Given the description of an element on the screen output the (x, y) to click on. 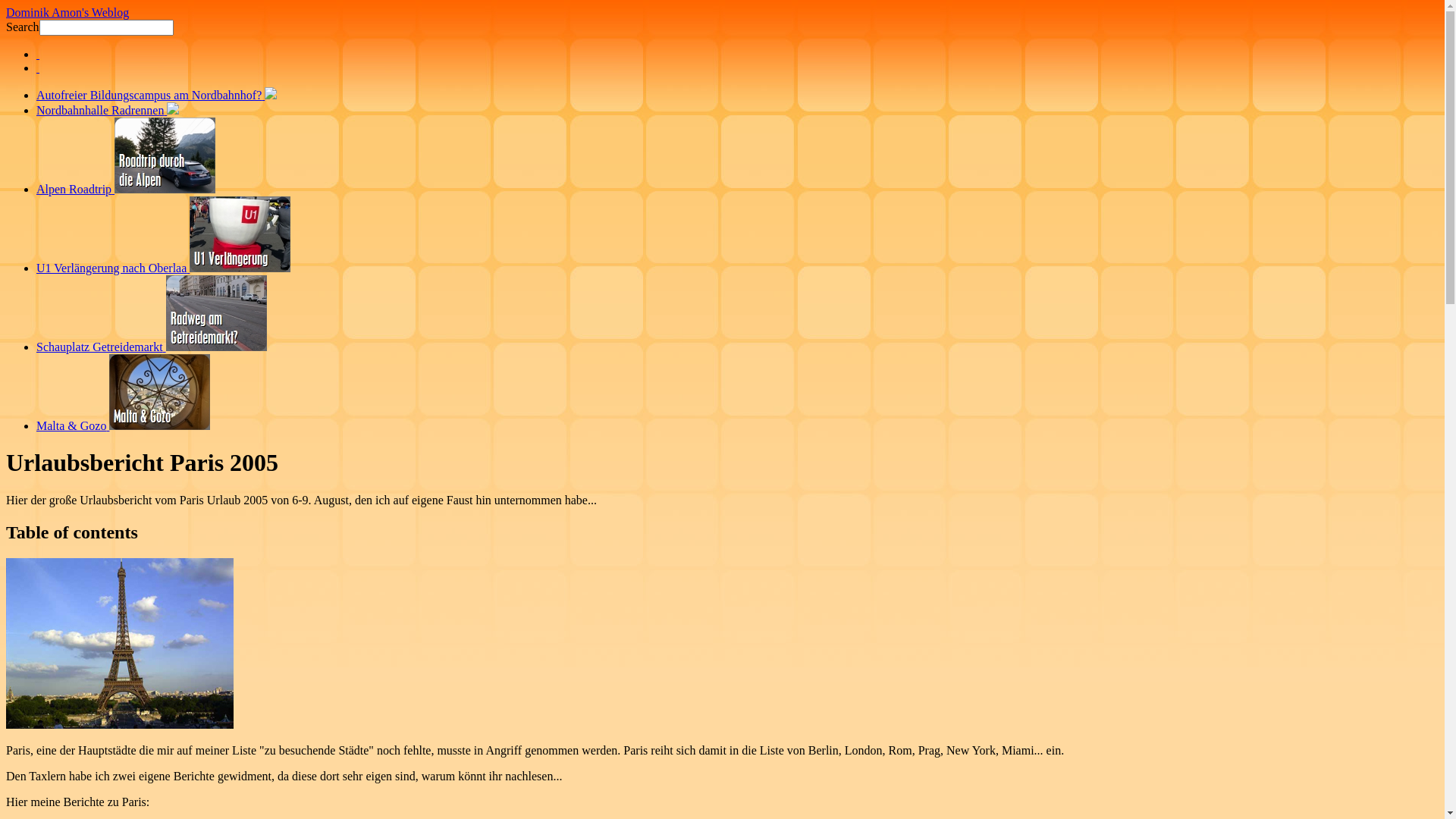
Alpen Roadtrip Element type: text (125, 188)
Malta & Gozo Element type: text (123, 425)
  Element type: text (37, 53)
Schauplatz Getreidemarkt Element type: text (151, 346)
Autofreier Bildungscampus am Nordbahnhof? Element type: text (156, 94)
  Element type: text (37, 67)
Nordbahnhalle Radrennen Element type: text (107, 109)
Scroll through featured articles Element type: hover (722, 61)
Dominik Amon's Weblog Element type: text (67, 12)
